Given the description of an element on the screen output the (x, y) to click on. 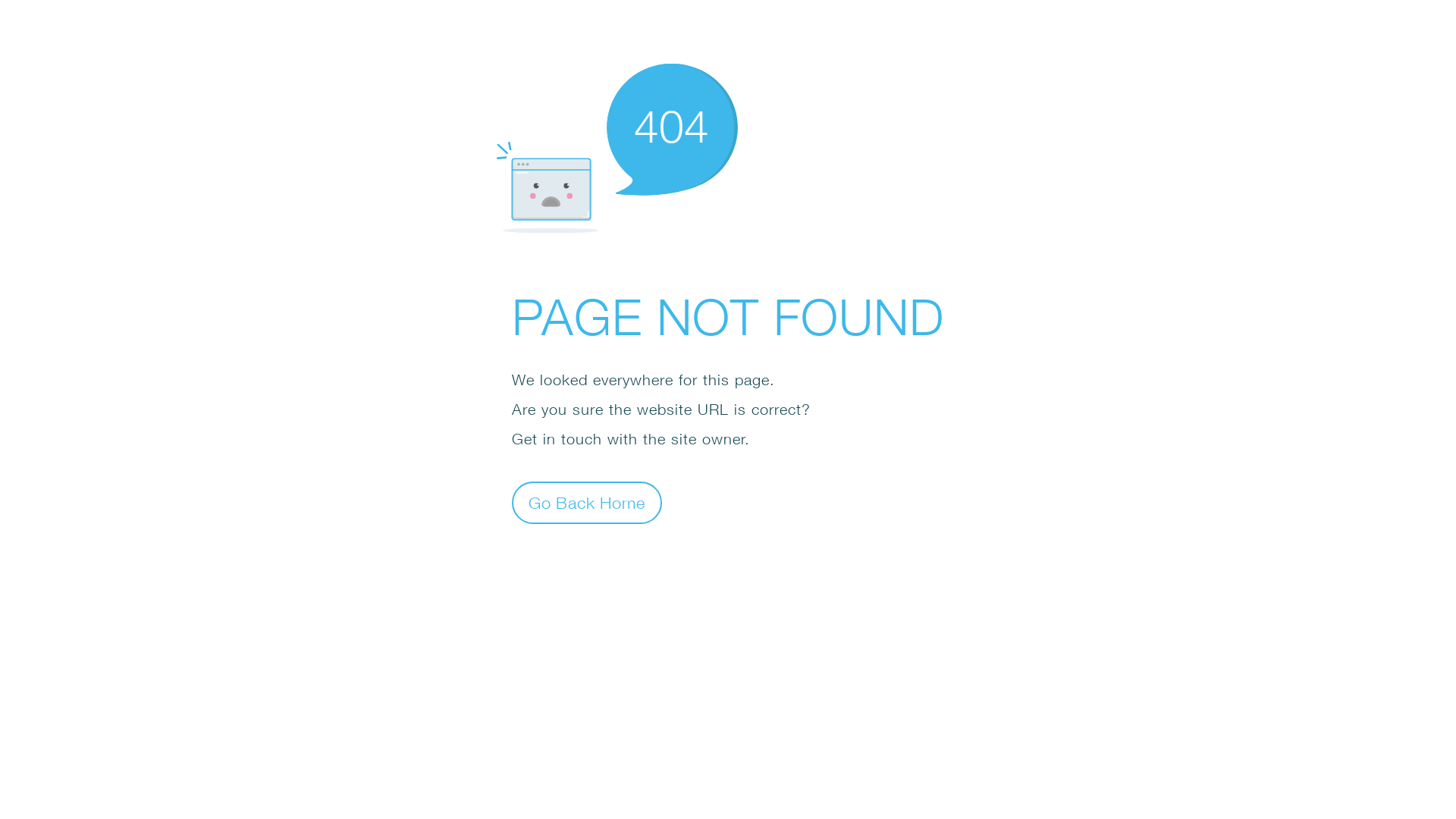
Go Back Home Element type: text (586, 502)
